Given the description of an element on the screen output the (x, y) to click on. 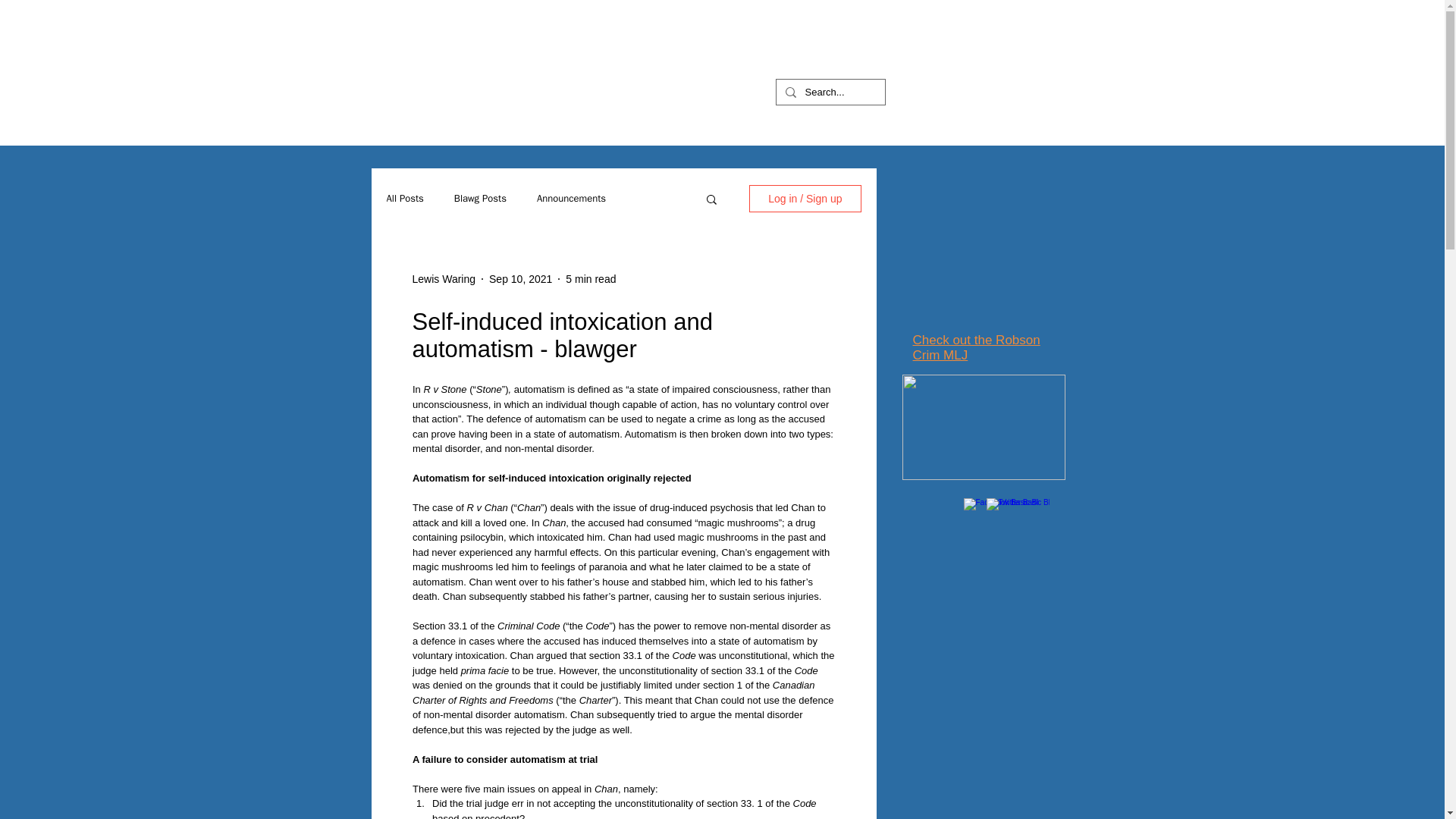
Announcements (571, 198)
5 min read (590, 278)
Check out the Robson Crim MLJ (976, 347)
All Posts (405, 198)
Blawg Posts (480, 198)
Sep 10, 2021 (520, 278)
Lewis Waring (444, 279)
